Given the description of an element on the screen output the (x, y) to click on. 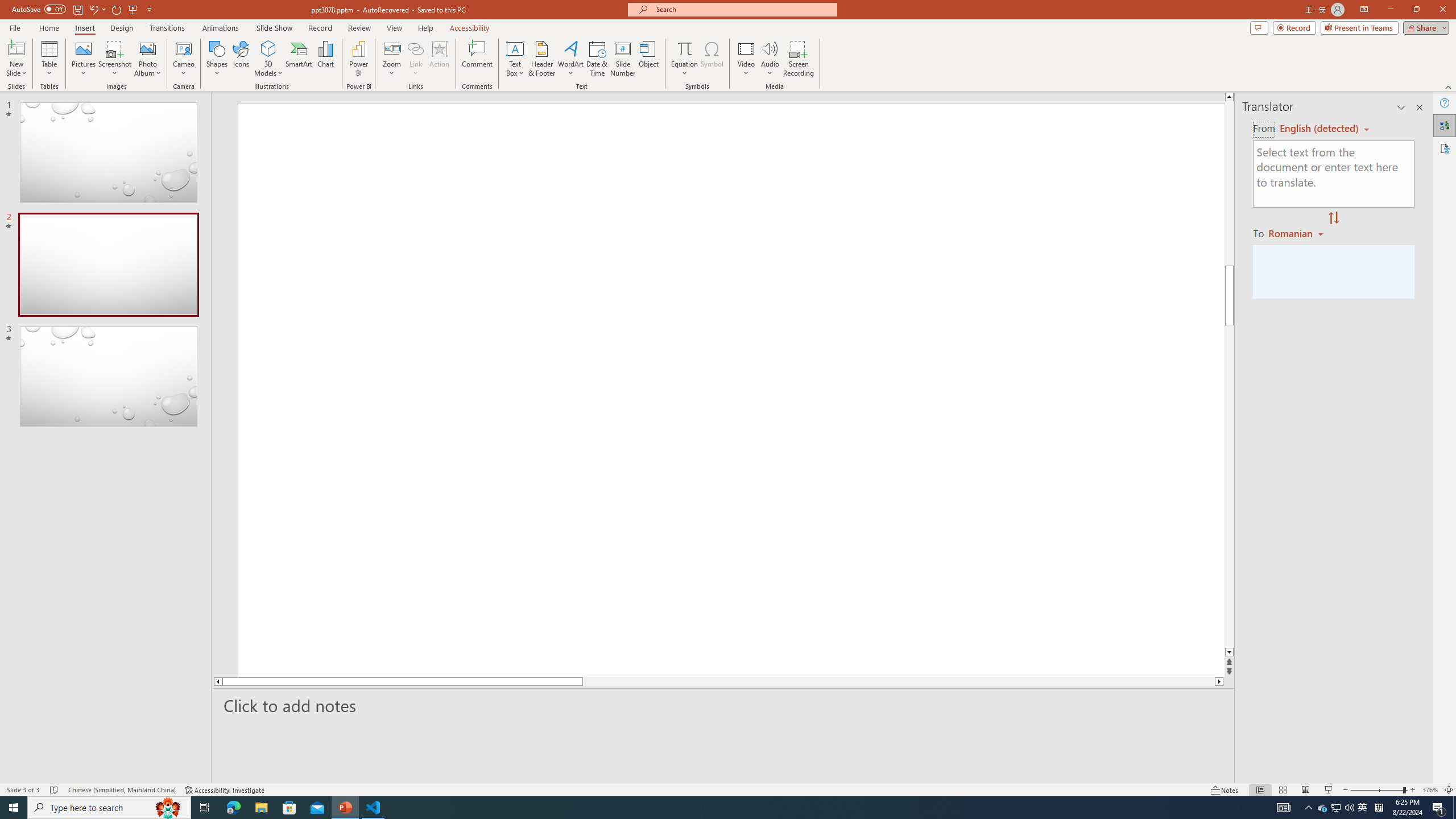
Chart... (325, 58)
Action (439, 58)
Draw Horizontal Text Box (515, 48)
Link (415, 48)
New Photo Album... (147, 48)
Slide Notes (724, 705)
Power BI (358, 58)
Romanian (1296, 232)
